Given the description of an element on the screen output the (x, y) to click on. 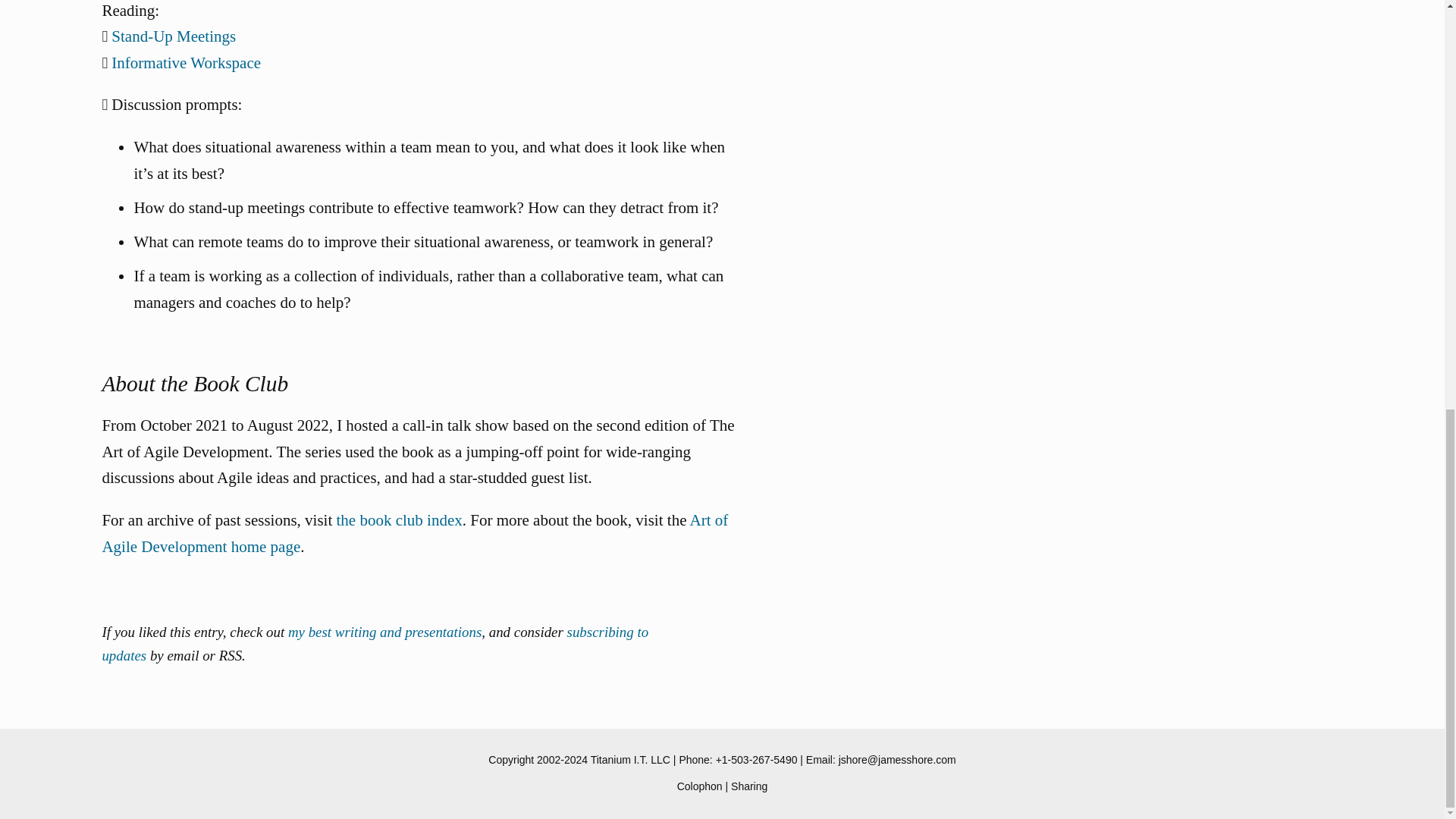
Sharing (748, 786)
Colophon (699, 786)
my best writing and presentations (384, 631)
Informative Workspace (186, 63)
the book club index (399, 520)
Art of Agile Development home page (414, 533)
Stand-Up Meetings (173, 36)
subscribing to updates (374, 643)
